Given the description of an element on the screen output the (x, y) to click on. 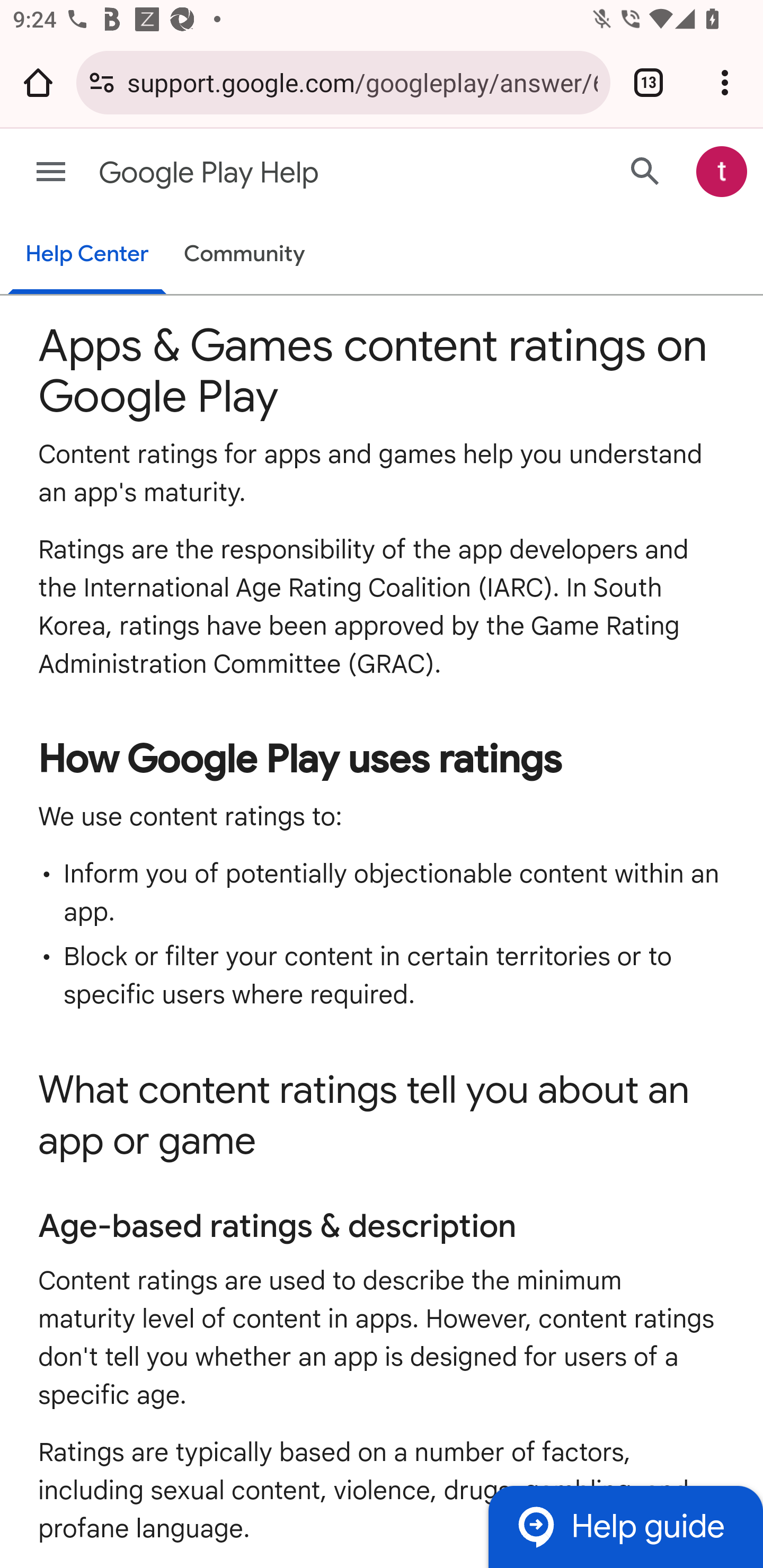
Open the home page (38, 82)
Connection is secure (101, 82)
Switch or close tabs (648, 82)
Customize and control Google Chrome (724, 82)
Main menu (50, 171)
Google Play Help (311, 173)
Search Help Center (645, 171)
Help Center (86, 255)
Community (243, 253)
Help guide (625, 1527)
